Given the description of an element on the screen output the (x, y) to click on. 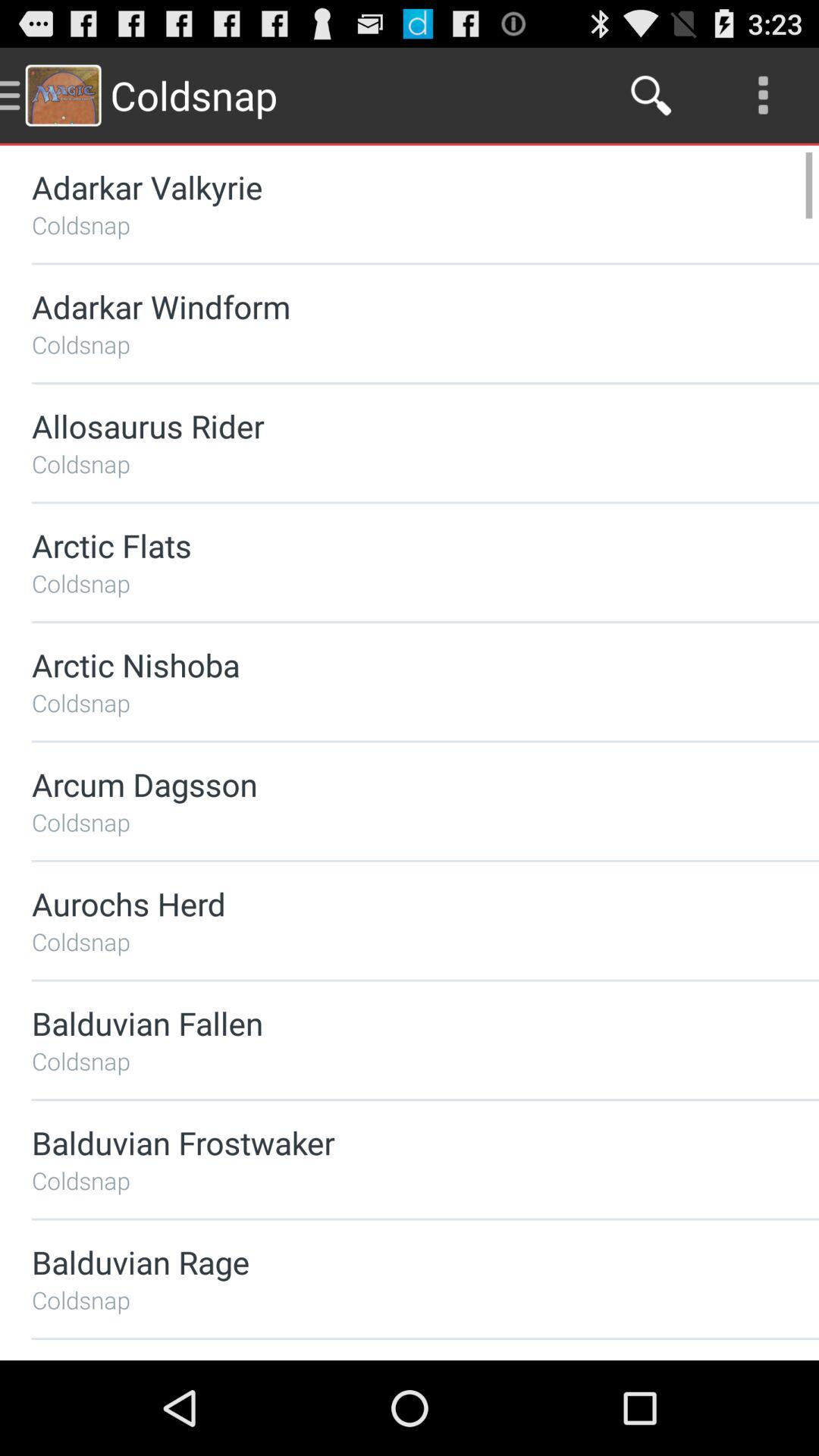
turn on the aurochs herd app (385, 903)
